Given the description of an element on the screen output the (x, y) to click on. 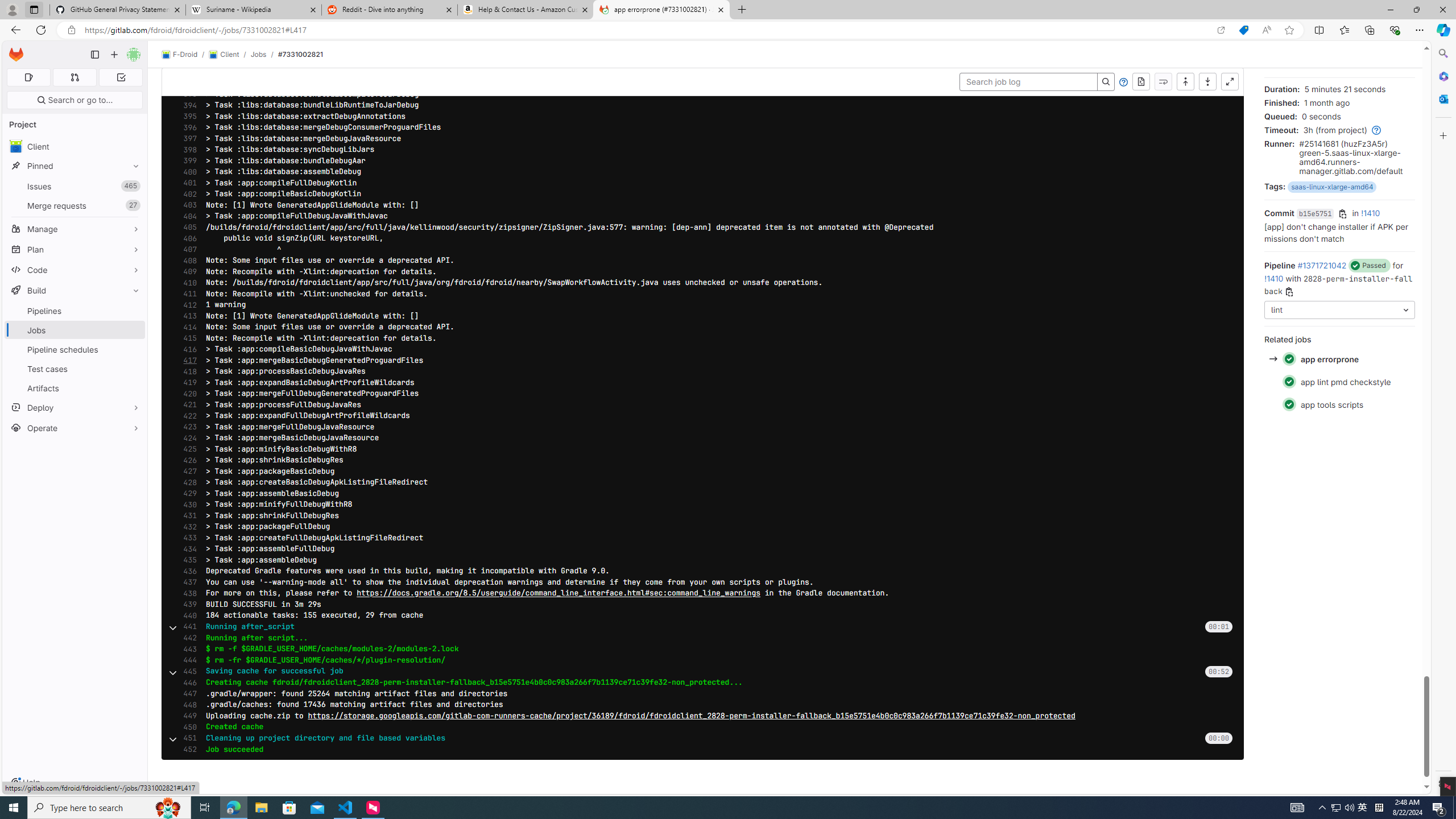
Scroll to bottom (1207, 81)
Client (223, 54)
437 (186, 582)
Show full screen (1230, 81)
436 (186, 571)
Status: Passed app lint pmd checkstyle (1338, 381)
429 (186, 493)
2828-perm-installer-fallback (1337, 284)
413 (186, 315)
Plan (74, 248)
424 (186, 437)
